Given the description of an element on the screen output the (x, y) to click on. 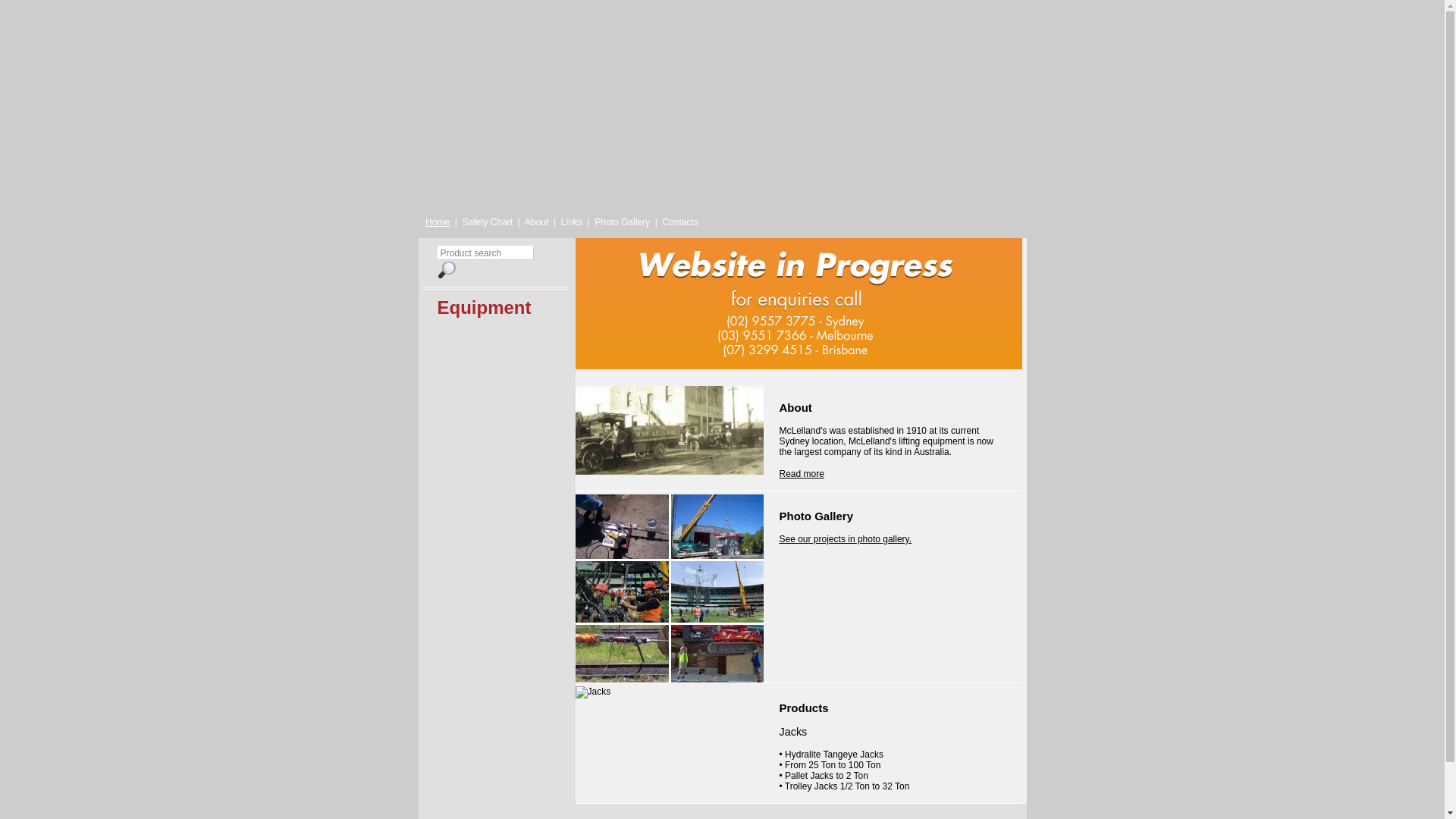
See our projects in photo gallery. Element type: text (845, 538)
Read more Element type: text (801, 473)
Safety Chart Element type: text (487, 221)
Photo Gallery Element type: text (623, 221)
Home Element type: text (437, 221)
Contacts Element type: text (679, 221)
Links Element type: text (572, 221)
About Element type: text (537, 221)
